Given the description of an element on the screen output the (x, y) to click on. 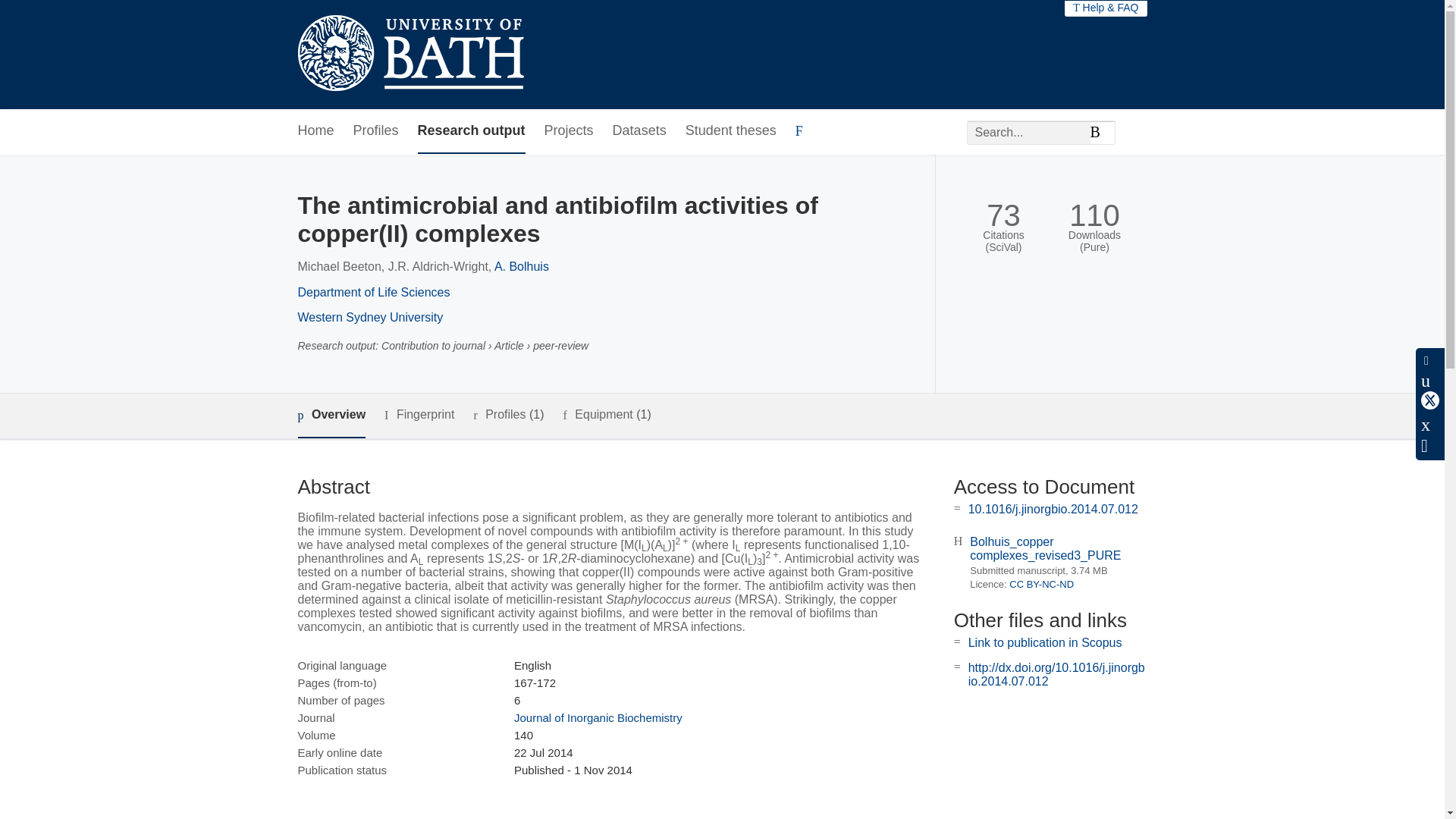
Fingerprint (419, 414)
A. Bolhuis (521, 266)
Projects (569, 130)
Research output (471, 130)
Student theses (730, 130)
Profiles (375, 130)
CC BY-NC-ND (1041, 583)
Overview (331, 415)
the University of Bath's research portal Home (409, 54)
